Given the description of an element on the screen output the (x, y) to click on. 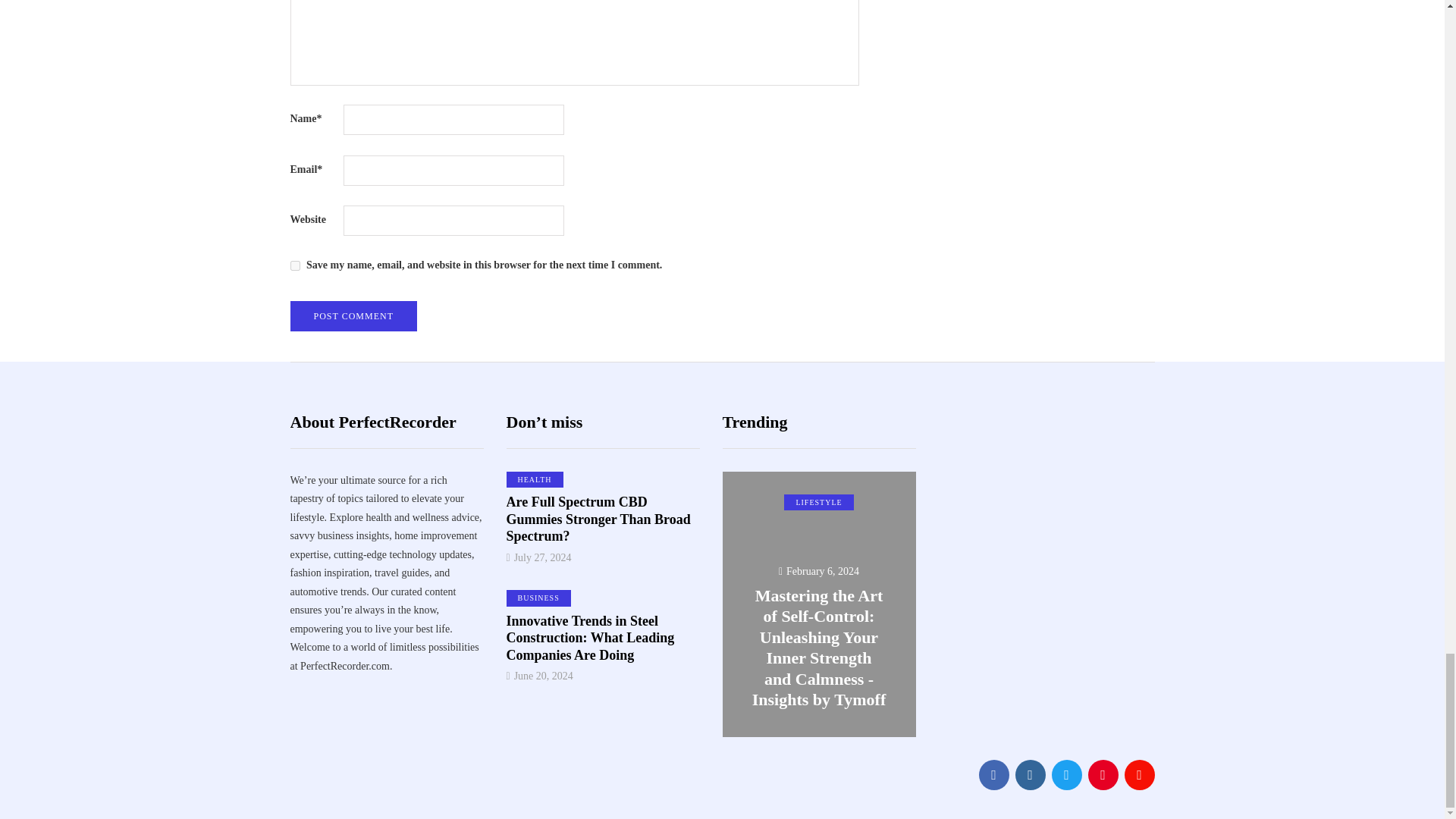
yes (294, 266)
Post comment (352, 316)
